Given the description of an element on the screen output the (x, y) to click on. 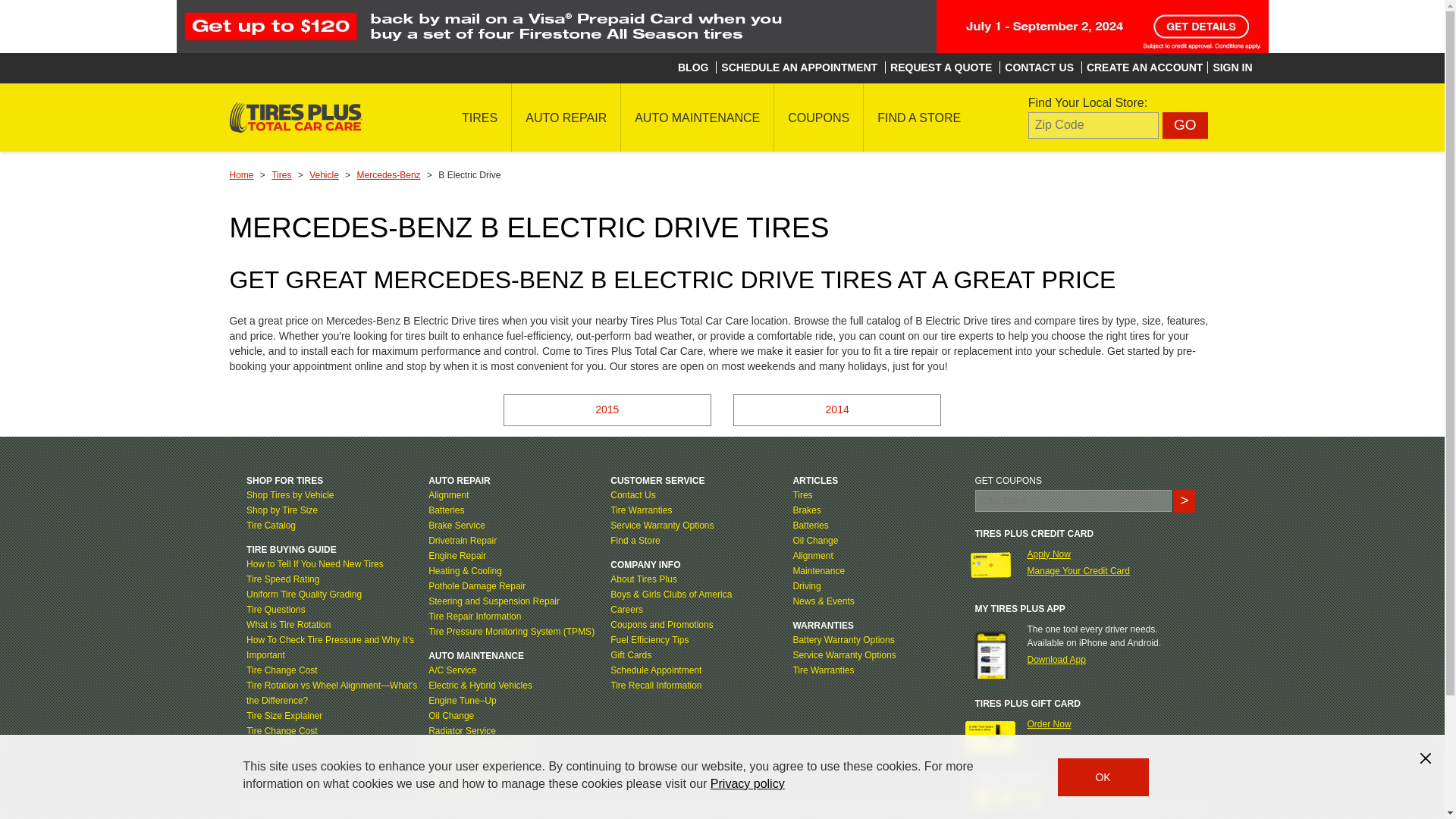
CREATE AN ACCOUNT (1144, 67)
BLOG (692, 67)
CONTACT US (1038, 67)
close button (1425, 758)
Instagram (1032, 797)
Facebook (983, 797)
Privacy policy (747, 783)
Zip Code (1092, 125)
agree button (1102, 777)
AUTO REPAIR (566, 117)
SCHEDULE AN APPOINTMENT (799, 67)
REQUEST A QUOTE (940, 67)
Twitter (1007, 797)
Enter Email (1073, 500)
